Given the description of an element on the screen output the (x, y) to click on. 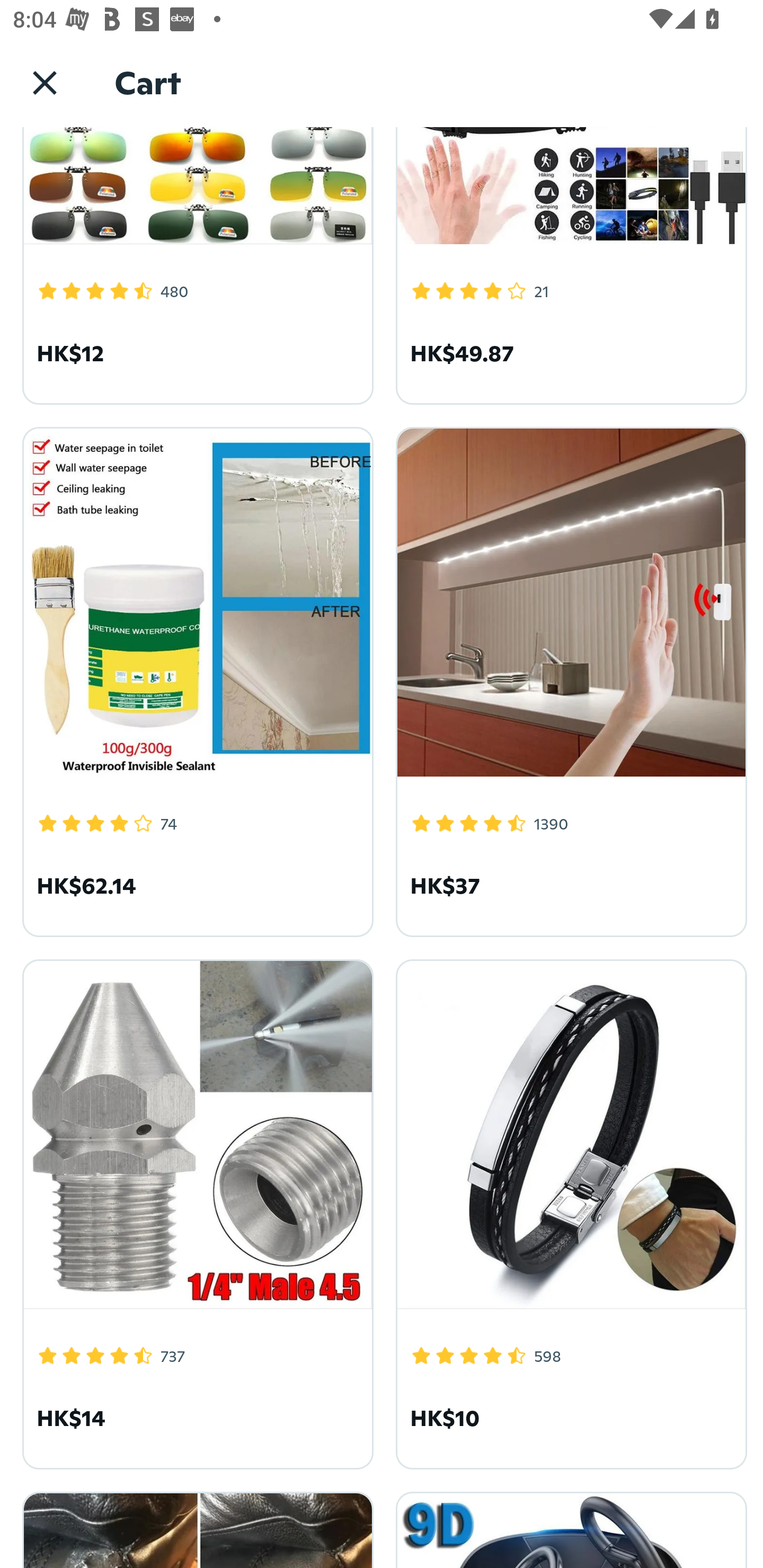
Navigate up (44, 82)
4.5 Star Rating 480 HK$12 (194, 265)
4.2 Star Rating 21 HK$49.87 (567, 265)
4.2 Star Rating 74 HK$62.14 (194, 678)
4.3 Star Rating 1390 HK$37 (567, 678)
4.4 Star Rating 737 HK$14 (194, 1211)
4.5 Star Rating 598 HK$10 (567, 1211)
